Given the description of an element on the screen output the (x, y) to click on. 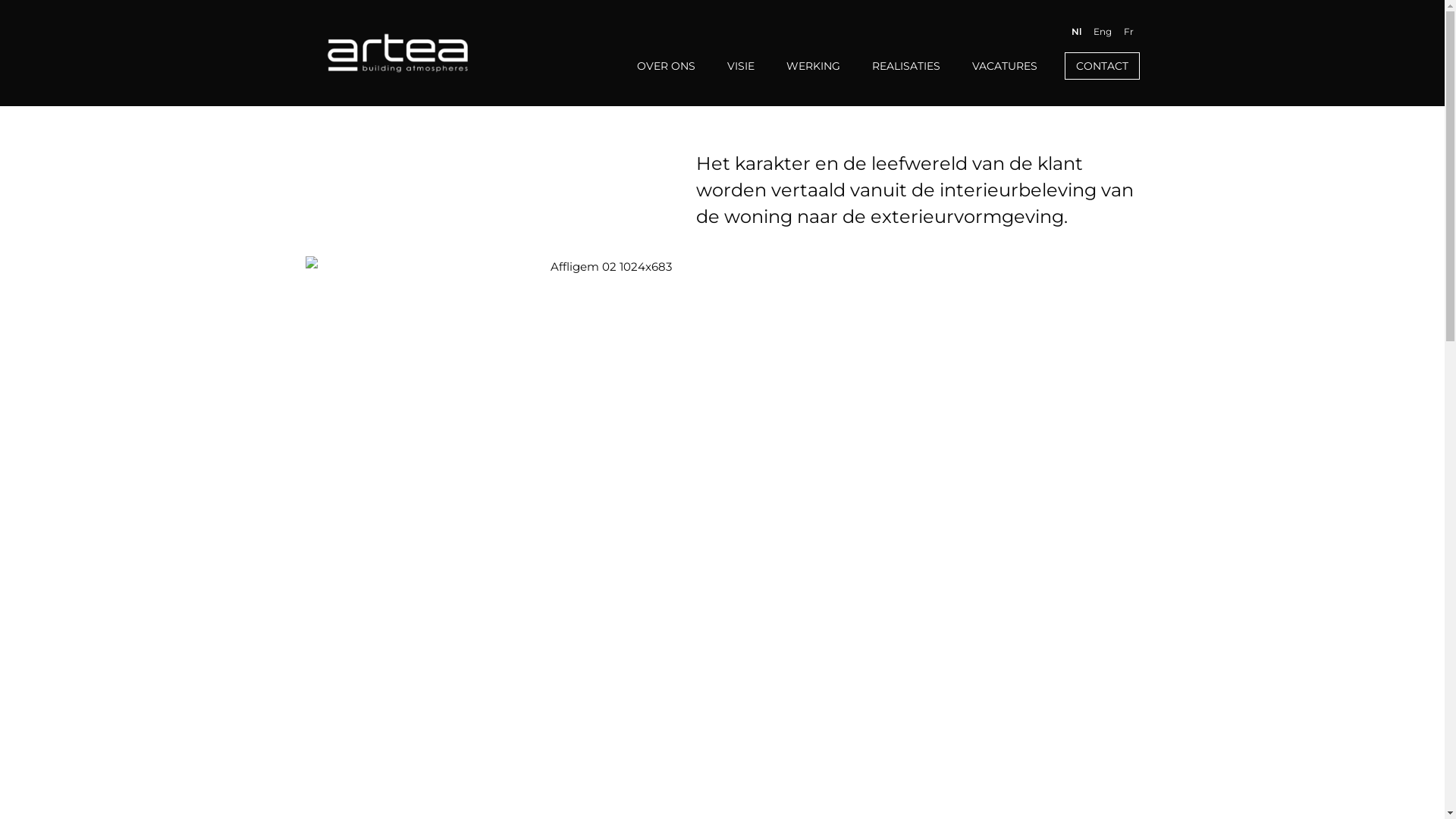
Eng Element type: text (1102, 31)
Nl Element type: text (1075, 31)
CONTACT Element type: text (1101, 65)
REALISATIES Element type: text (905, 65)
VISIE Element type: text (739, 65)
Fr Element type: text (1128, 31)
VACATURES Element type: text (1004, 65)
OVER ONS Element type: text (665, 65)
WERKING Element type: text (812, 65)
